Given the description of an element on the screen output the (x, y) to click on. 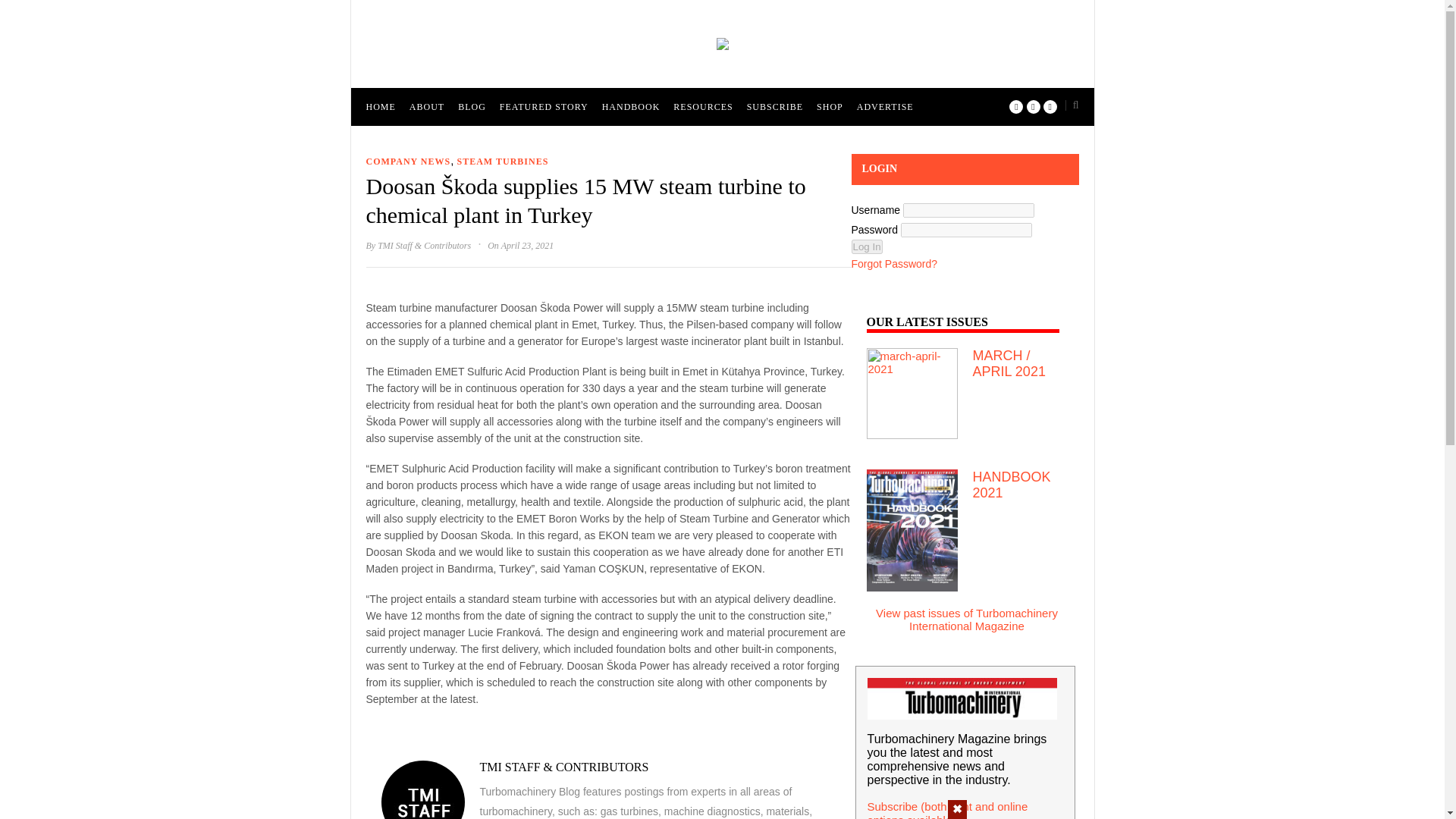
RESOURCES (702, 106)
SHOP (829, 106)
STEAM TURBINES (502, 161)
Forgot Password (893, 263)
BLOG (472, 106)
HOME (379, 106)
SUBSCRIBE (774, 106)
ADVERTISE (885, 106)
Log In (866, 246)
COMPANY NEWS (407, 161)
HANDBOOK (631, 106)
ABOUT (426, 106)
FEATURED STORY (543, 106)
